Given the description of an element on the screen output the (x, y) to click on. 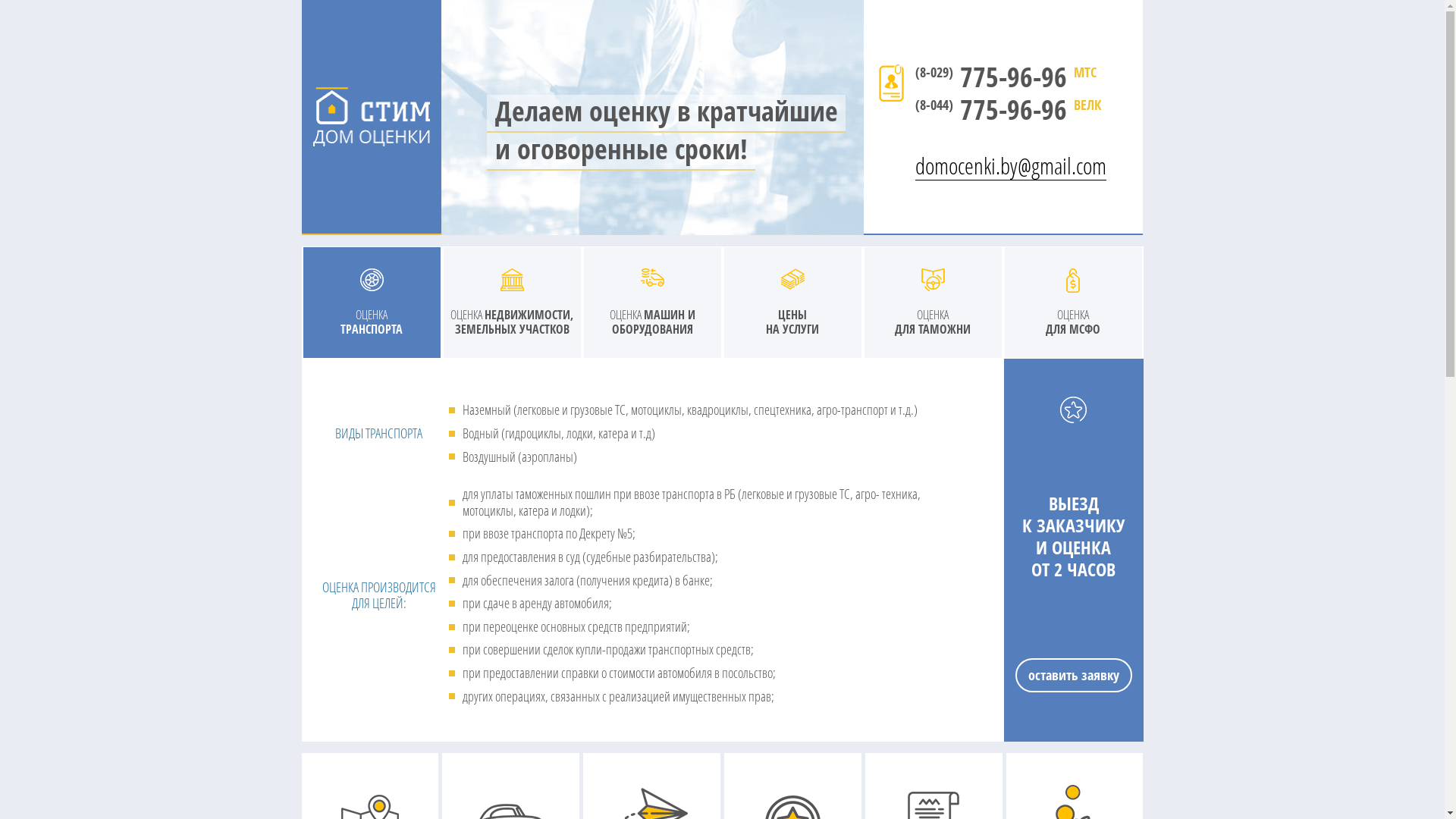
domocenki.by@gmail.com Element type: text (1010, 154)
